Given the description of an element on the screen output the (x, y) to click on. 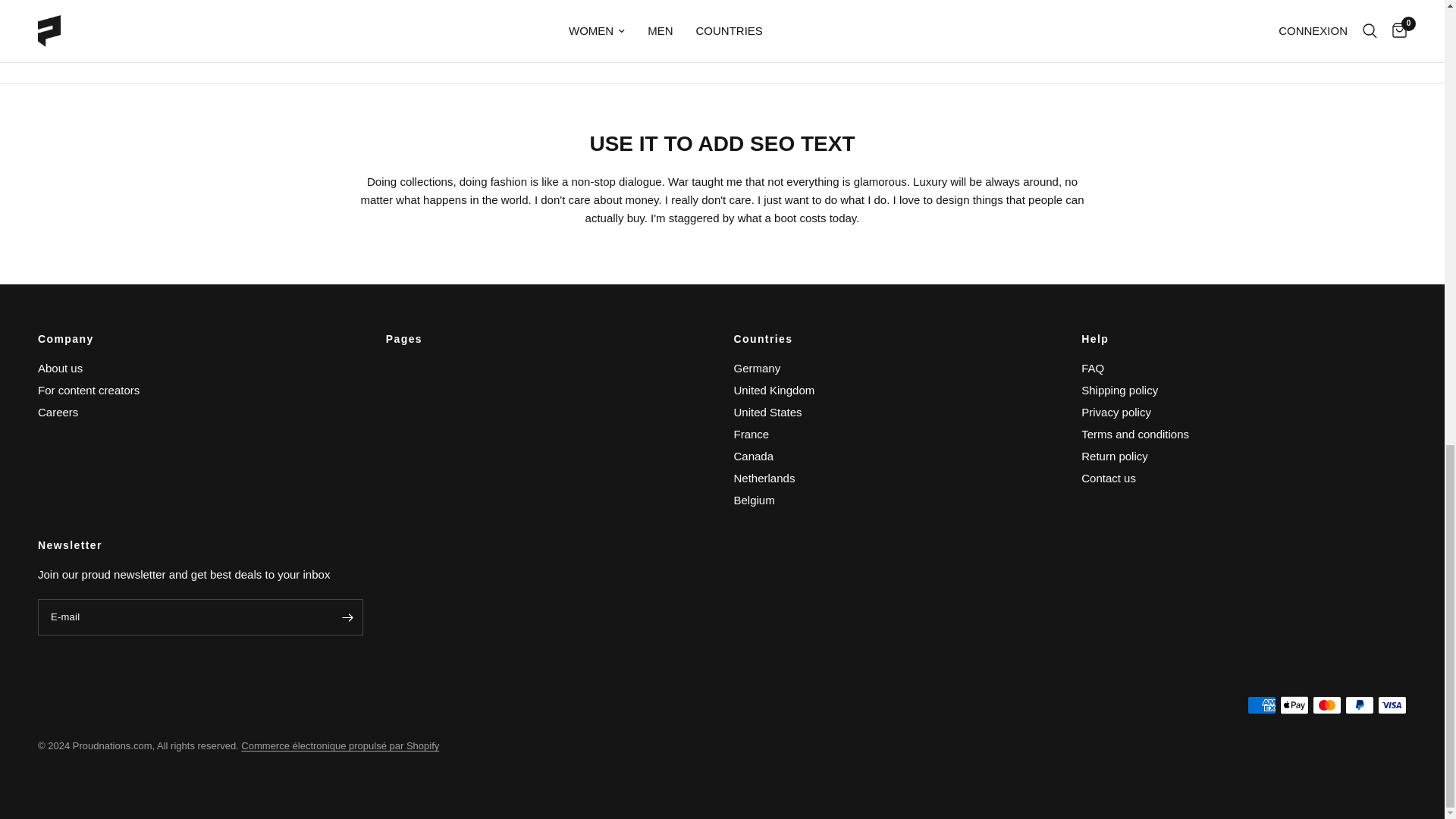
LE NOM DE VOTRE COLLECTION (605, 24)
LE NOM DE VOTRE COLLECTION (374, 24)
LE NOM DE VOTRE COLLECTION (142, 24)
LE NOM DE VOTRE COLLECTION (837, 24)
